Given the description of an element on the screen output the (x, y) to click on. 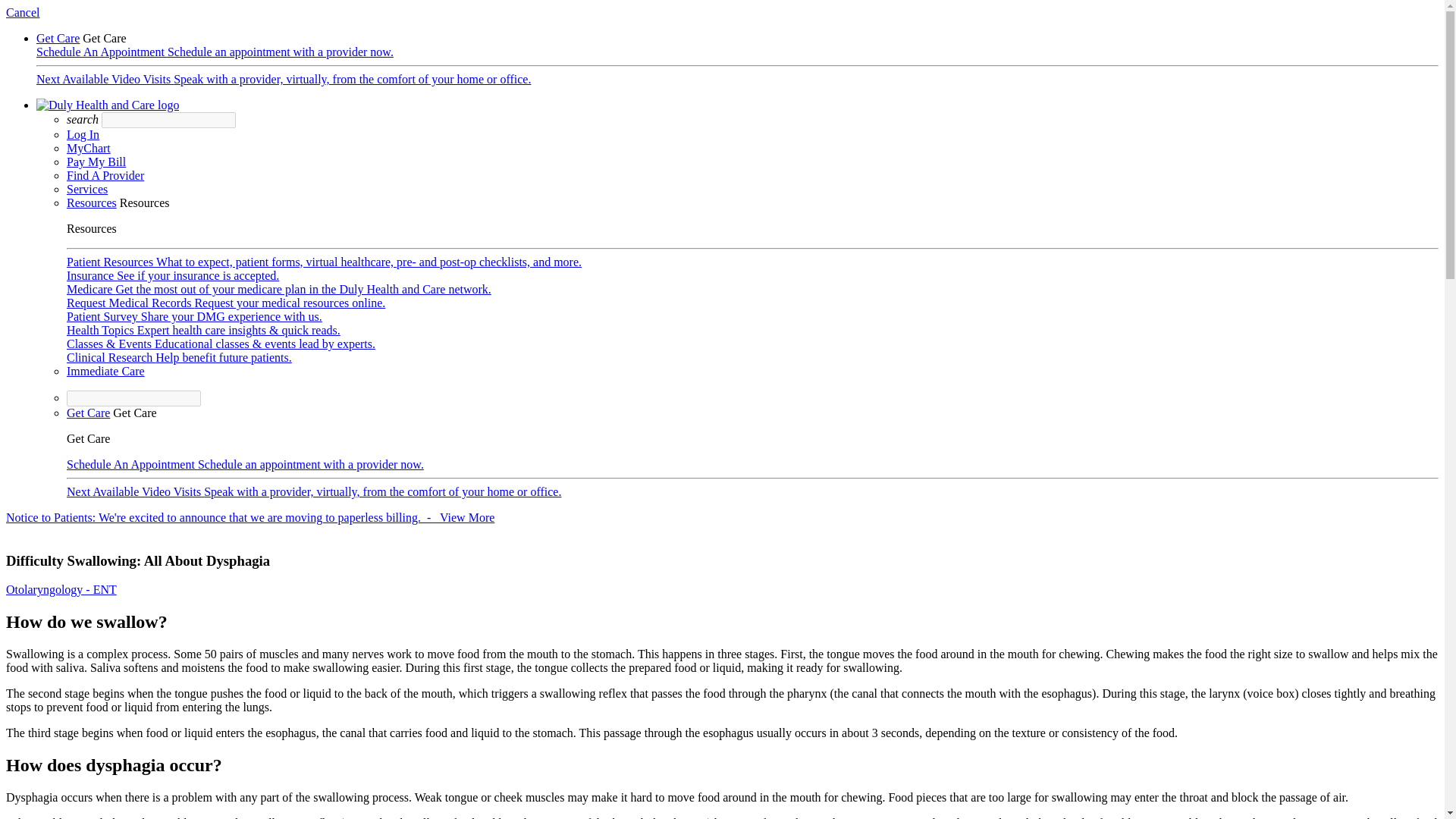
Get Care (88, 412)
Services (86, 188)
Schedule an appointment with a provider now. (310, 463)
Medicare (90, 288)
Request your medical resources online. (289, 302)
Immediate Care (105, 370)
Cancel (22, 11)
Schedule an appointment with a provider now. (280, 51)
